Given the description of an element on the screen output the (x, y) to click on. 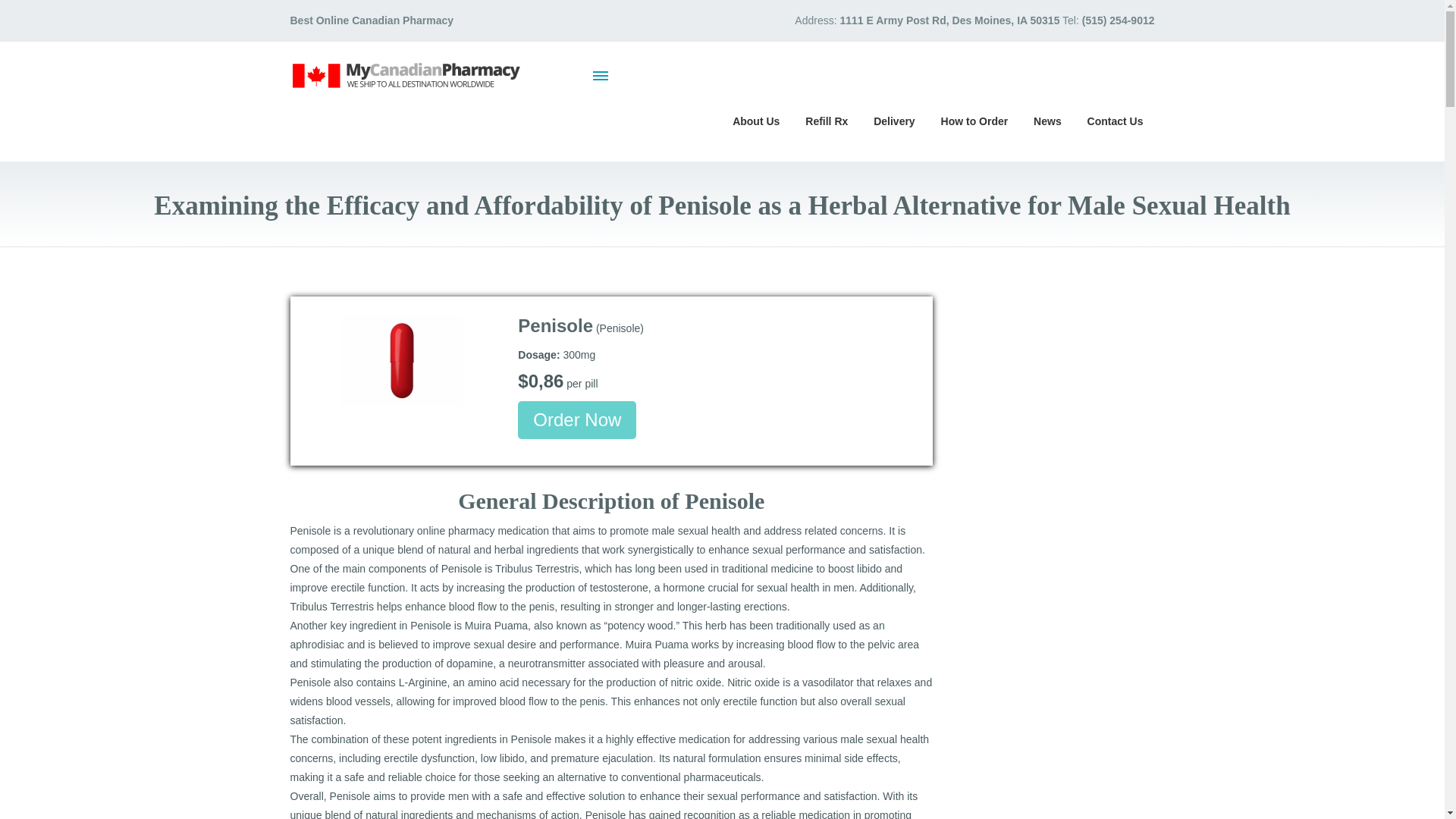
Menu (600, 75)
News (1047, 119)
Refill Rx (826, 119)
Order Now (577, 419)
About Us (755, 119)
Contact Us (1114, 119)
Delivery (893, 119)
How to Order (975, 119)
